Given the description of an element on the screen output the (x, y) to click on. 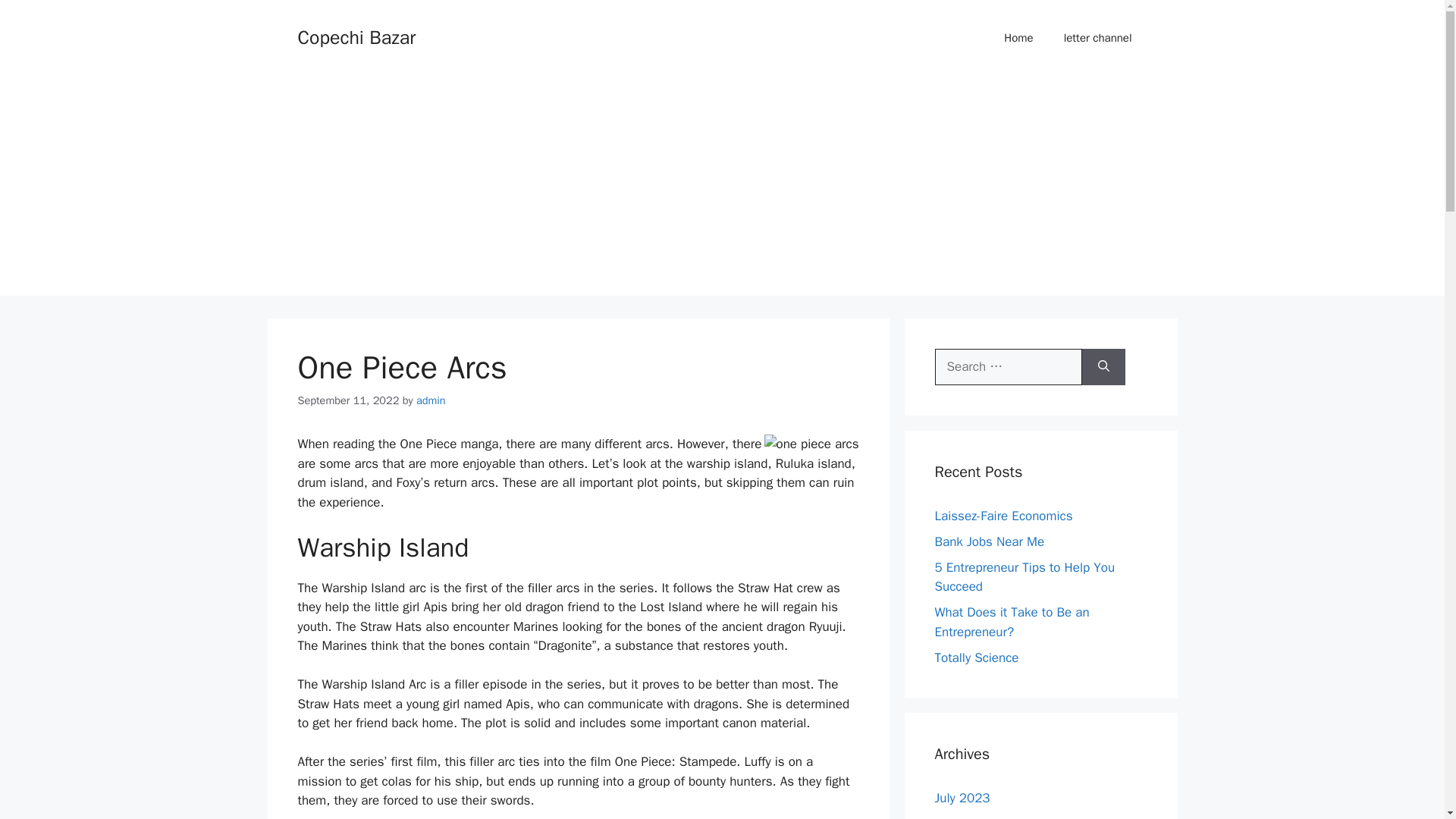
October 2022 (973, 817)
Search for: (1007, 366)
5 Entrepreneur Tips to Help You Succeed (1024, 577)
Bank Jobs Near Me (988, 541)
Laissez-Faire Economics (1002, 515)
admin (430, 400)
July 2023 (962, 797)
Totally Science (975, 657)
Home (1018, 37)
What Does it Take to Be an Entrepreneur? (1011, 621)
letter channel (1097, 37)
Copechi Bazar (355, 37)
View all posts by admin (430, 400)
